Given the description of an element on the screen output the (x, y) to click on. 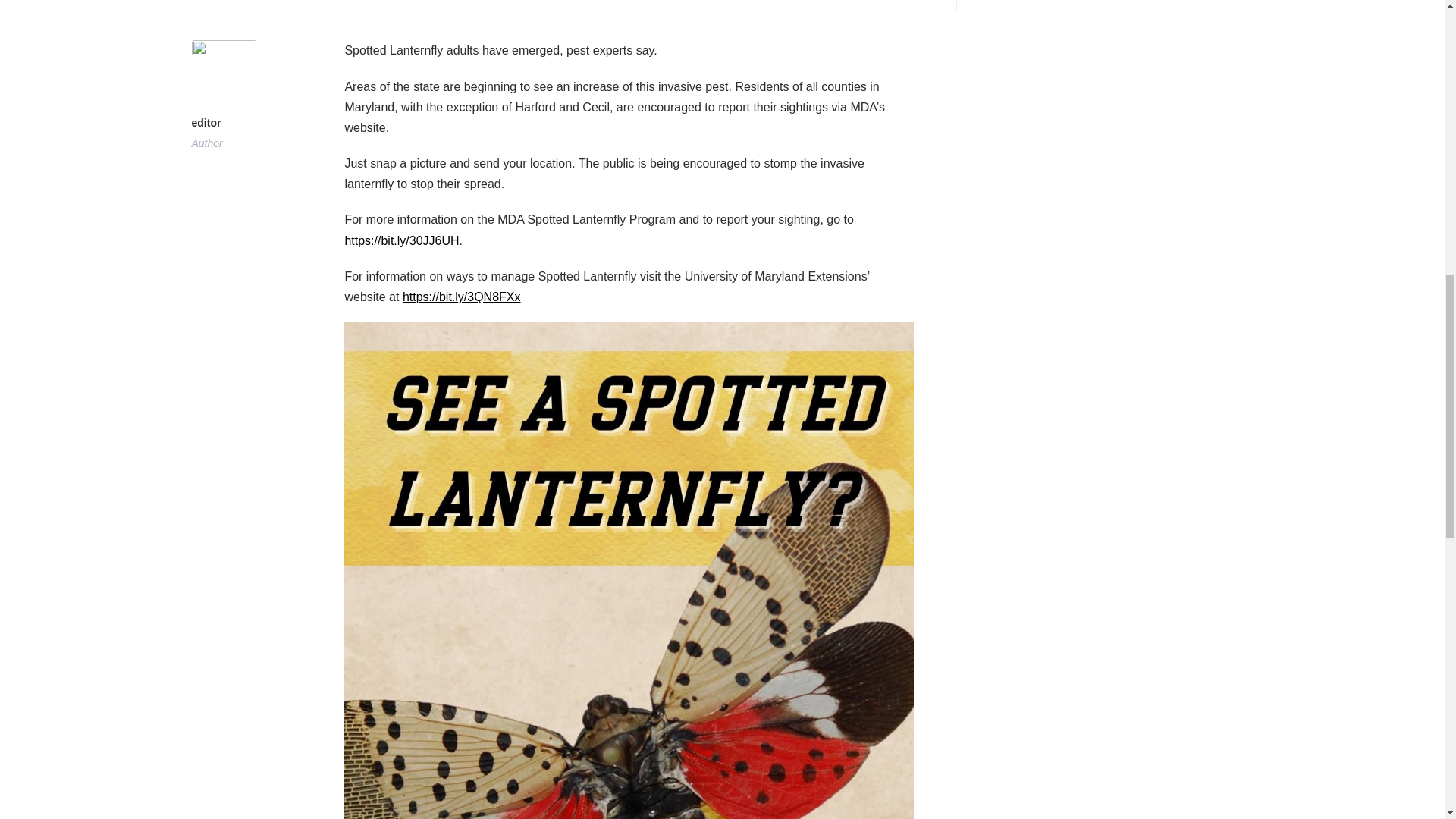
Posts by editor (223, 124)
